Given the description of an element on the screen output the (x, y) to click on. 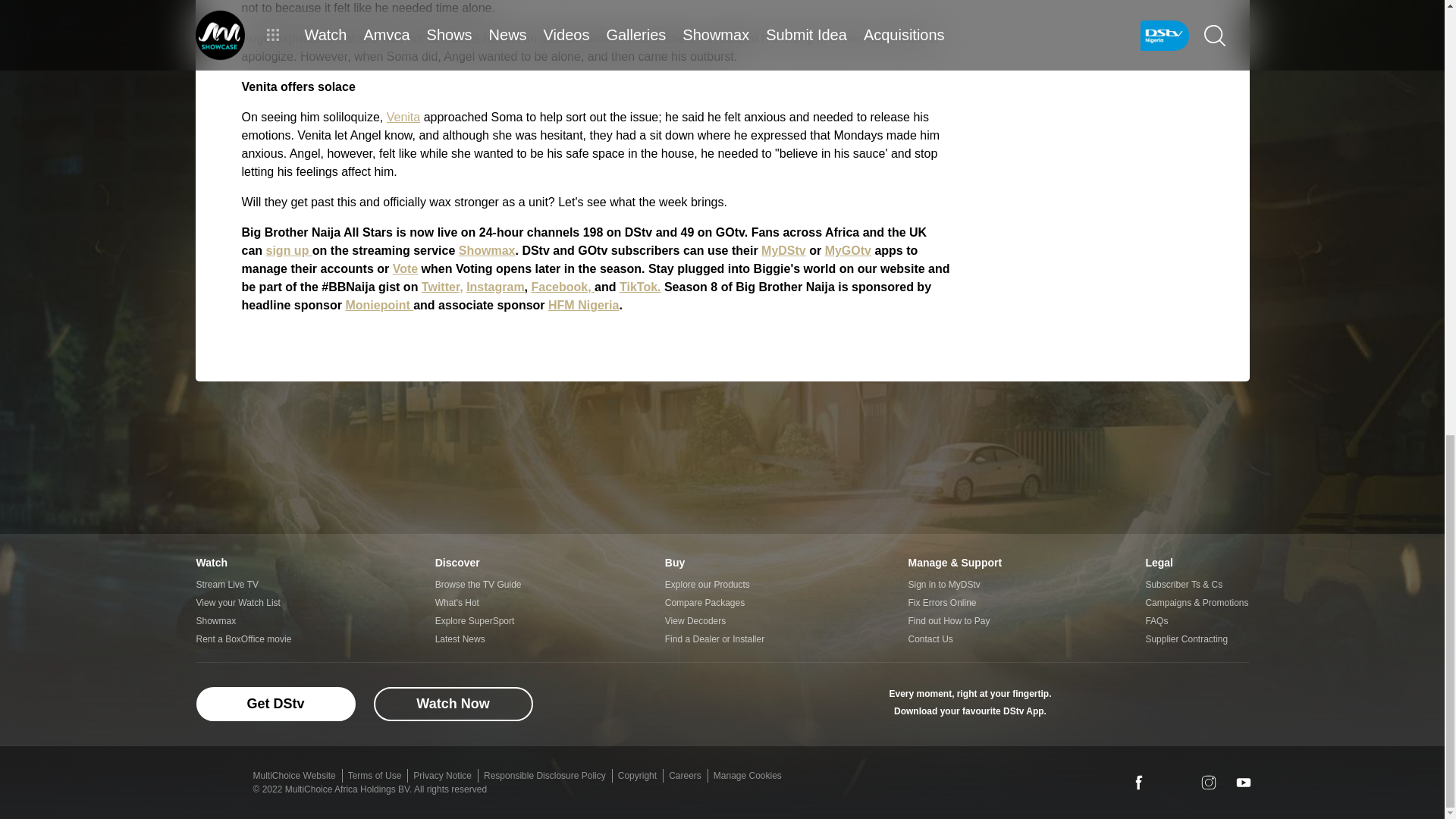
Find a Dealer or Installer (714, 638)
Stream with DStv (1081, 703)
Venita (403, 116)
Browse the TV Guide (478, 584)
What's Hot (478, 602)
Compare Packages (714, 602)
TikTok. (640, 286)
HFM Nigeria (583, 305)
View Decoders (714, 620)
SuperSport (1228, 703)
